Given the description of an element on the screen output the (x, y) to click on. 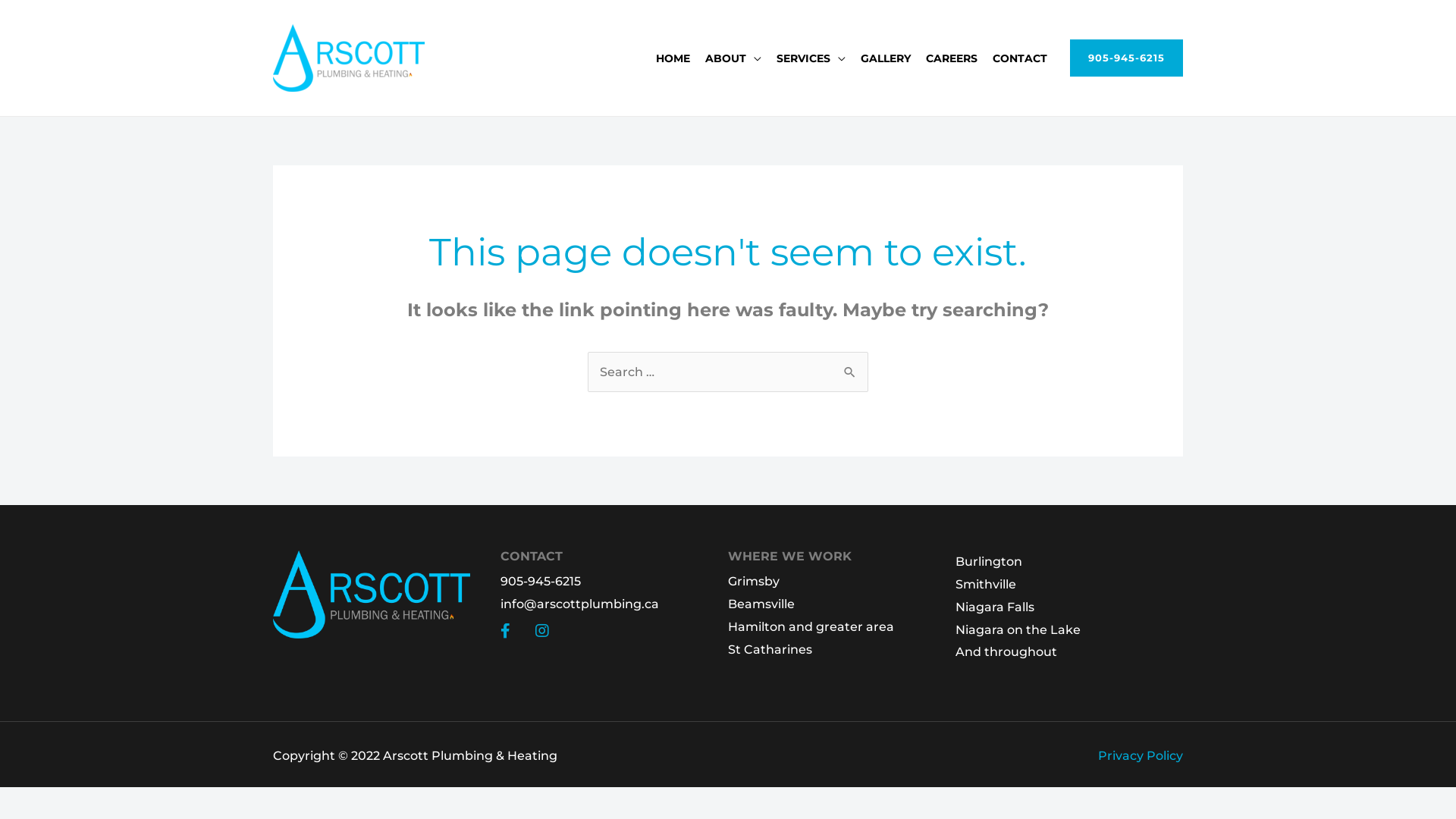
ABOUT Element type: text (732, 58)
905-945-6215 Element type: text (614, 581)
Search Element type: text (851, 366)
info@arscottplumbing.ca Element type: text (614, 604)
CONTACT Element type: text (1019, 58)
Privacy Policy Element type: text (1140, 755)
CAREERS Element type: text (951, 58)
HOME Element type: text (672, 58)
GALLERY Element type: text (885, 58)
SERVICES Element type: text (810, 58)
905-945-6215 Element type: text (1126, 57)
